Given the description of an element on the screen output the (x, y) to click on. 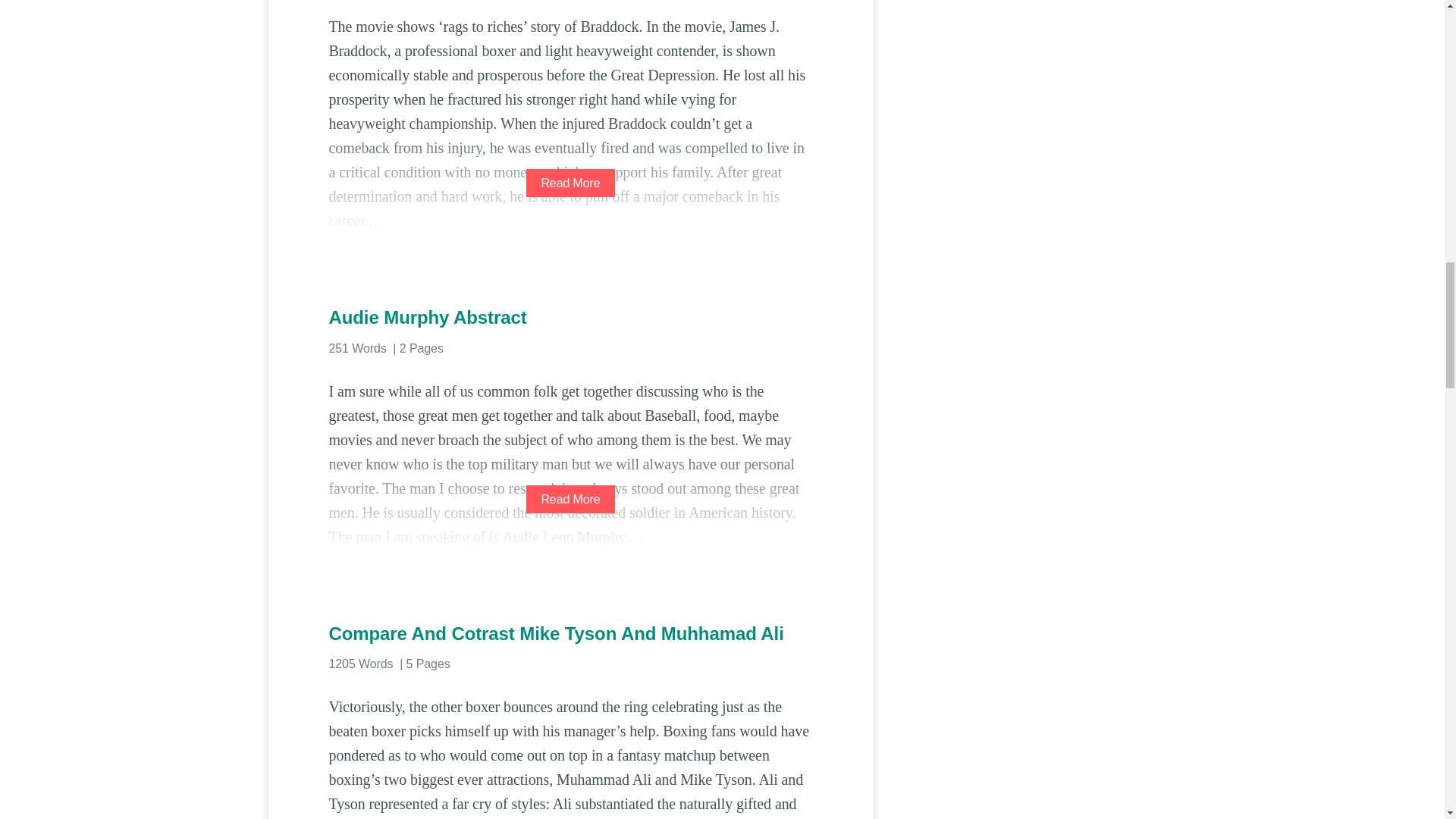
Compare And Cotrast Mike Tyson And Muhhamad Ali (570, 633)
Read More (569, 499)
Read More (569, 182)
Audie Murphy Abstract (570, 317)
